Given the description of an element on the screen output the (x, y) to click on. 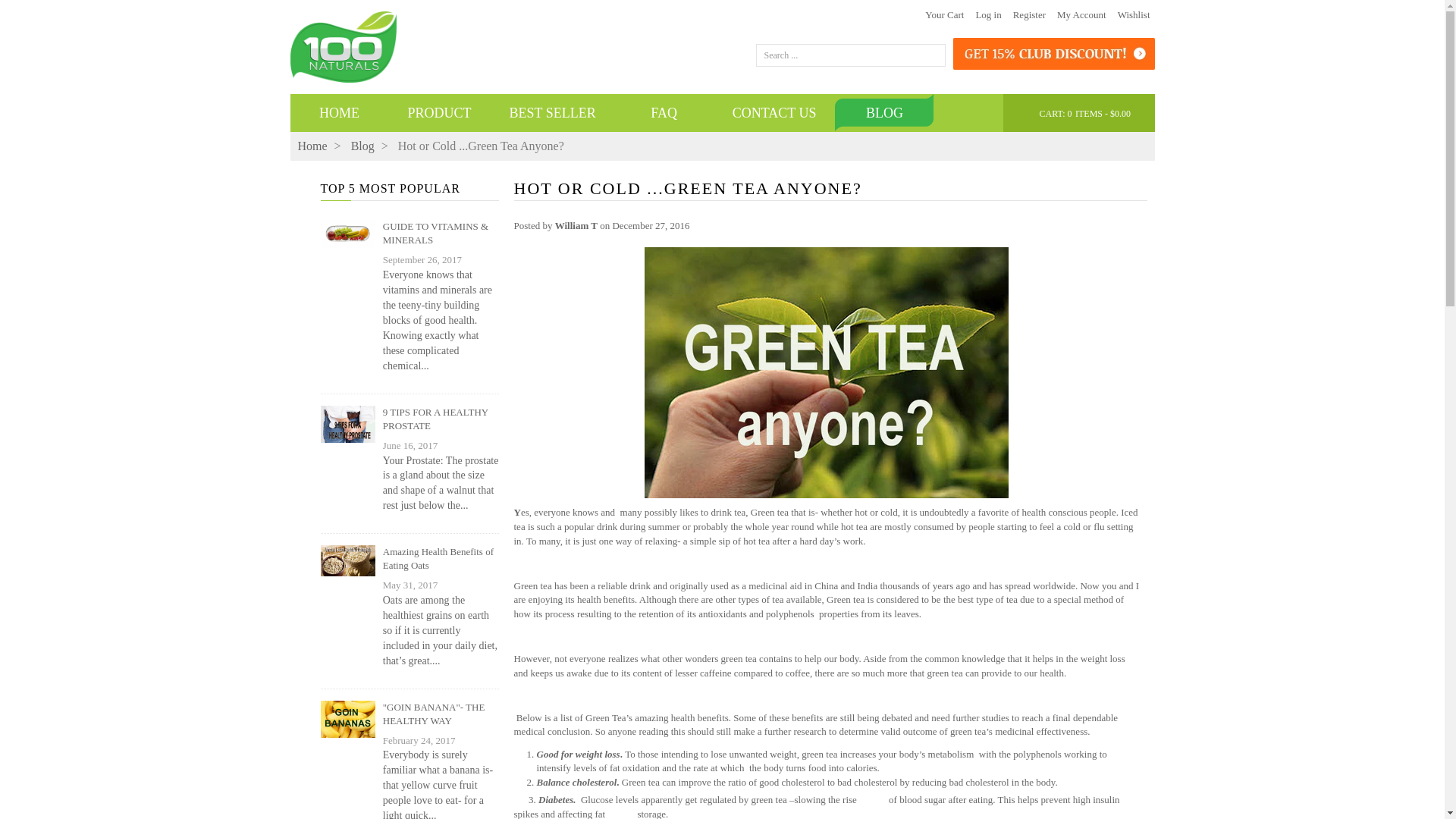
Your Cart (943, 14)
Blog (362, 145)
BEST SELLER (552, 112)
Contact Us (774, 112)
"GOIN BANANA"- THE HEALTHY WAY (440, 714)
Blog (362, 145)
My Account (1081, 14)
FAQ (663, 112)
Back to the frontpage (311, 145)
Product (438, 112)
PRODUCT (438, 112)
Register (1029, 14)
FAQ (663, 112)
Log in (988, 14)
Amazing Health Benefits of Eating Oats (440, 558)
